Given the description of an element on the screen output the (x, y) to click on. 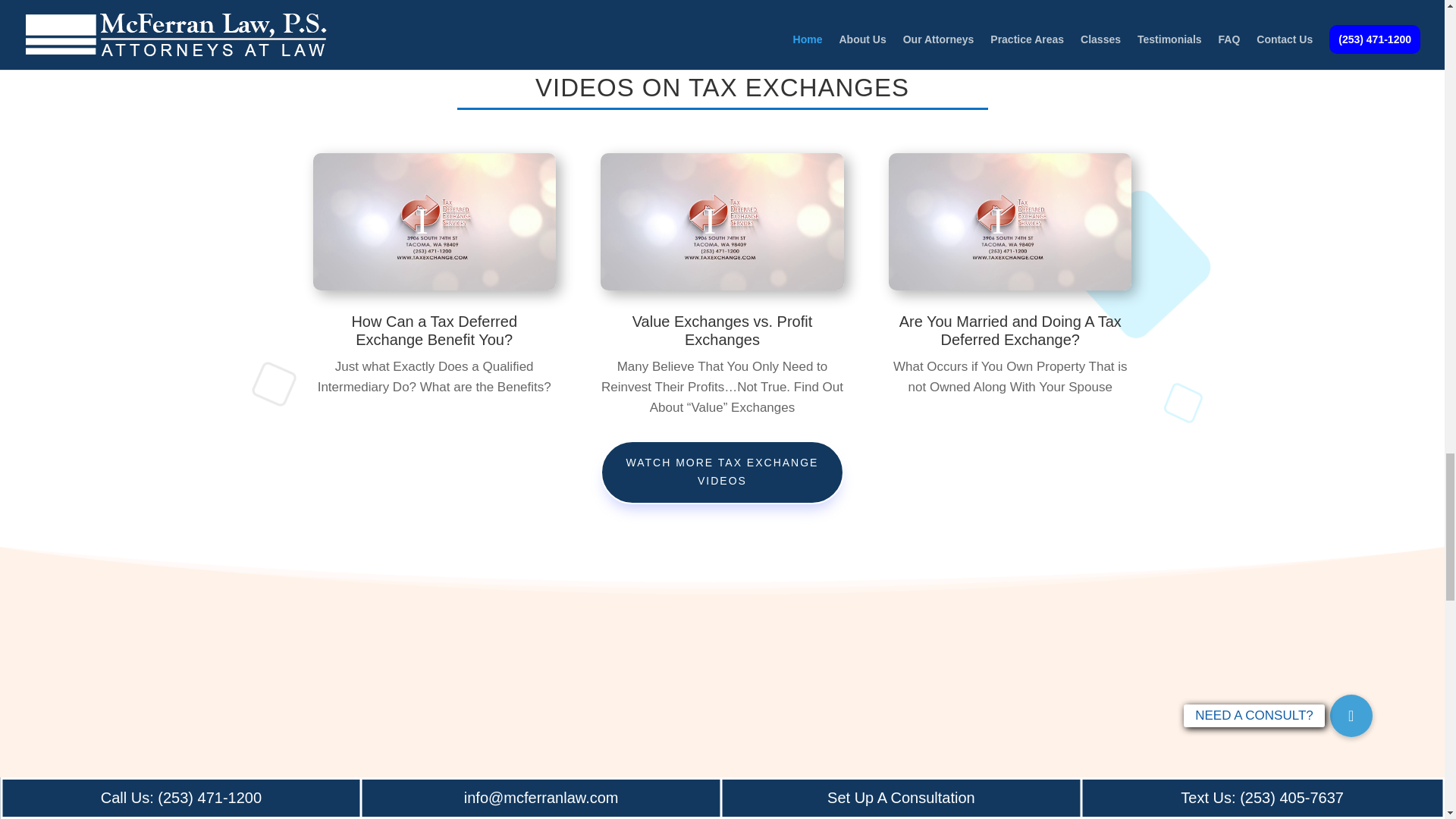
Value Exchanges Vs. Profit Exchanges (721, 221)
WATCH MORE TAX EXCHANGE VIDEOS (721, 472)
Introduction to Tax Deferred Exchange Services, Inc (433, 221)
